Given the description of an element on the screen output the (x, y) to click on. 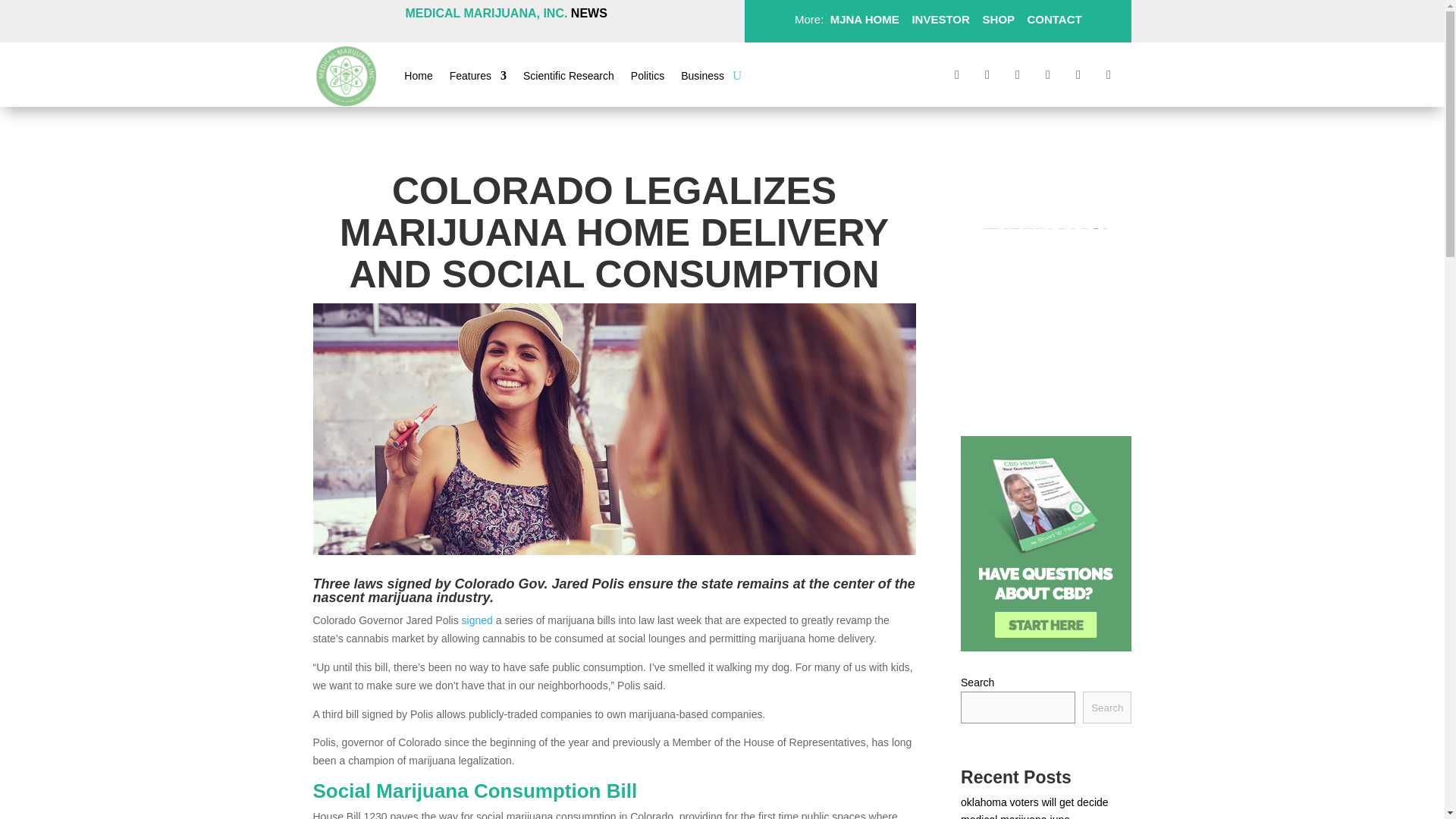
 SHOP (995, 19)
Politics (646, 78)
Follow on Pinterest (1047, 74)
Follow on Instagram (1017, 74)
MJNA HOME (862, 19)
Business (702, 78)
Scientific Research (568, 78)
Follow on Facebook (956, 74)
Follow on LinkedIn (1077, 74)
Follow on Youtube (1108, 74)
